Given the description of an element on the screen output the (x, y) to click on. 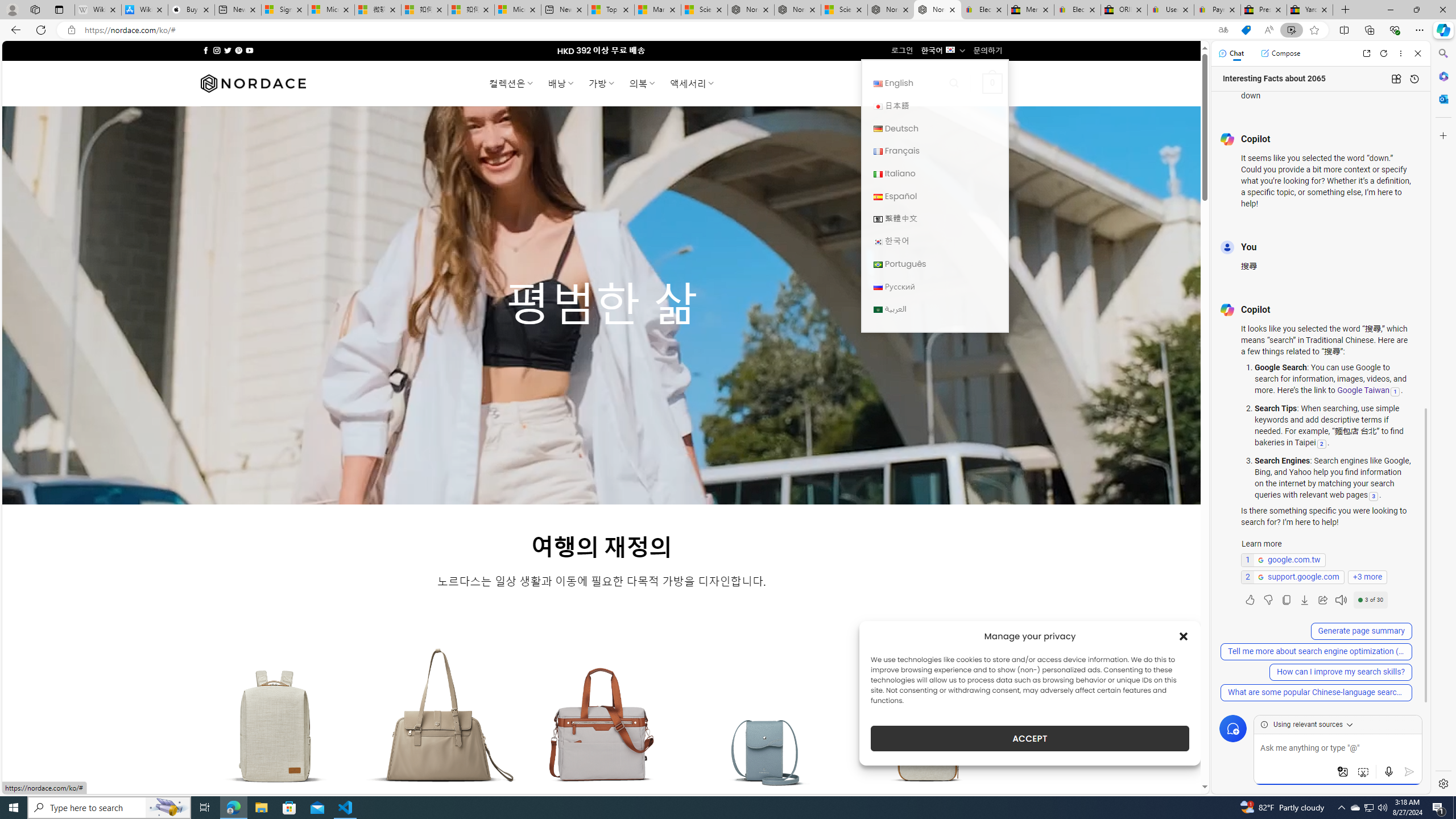
 Deutsch (934, 128)
Italiano Italiano (934, 173)
